Given the description of an element on the screen output the (x, y) to click on. 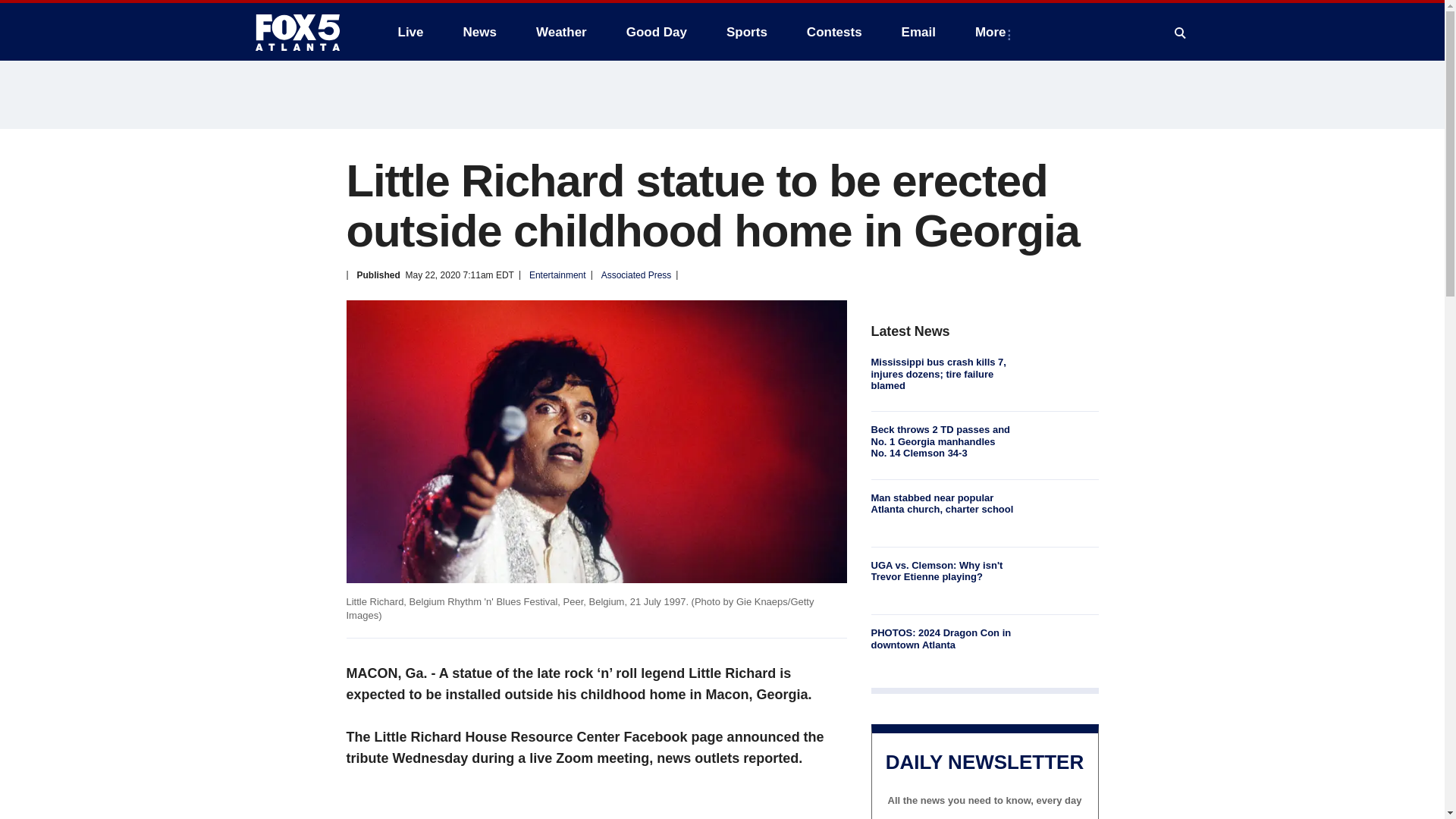
Contests (834, 32)
Weather (561, 32)
Live (410, 32)
Sports (746, 32)
News (479, 32)
More (993, 32)
Email (918, 32)
Good Day (656, 32)
